Given the description of an element on the screen output the (x, y) to click on. 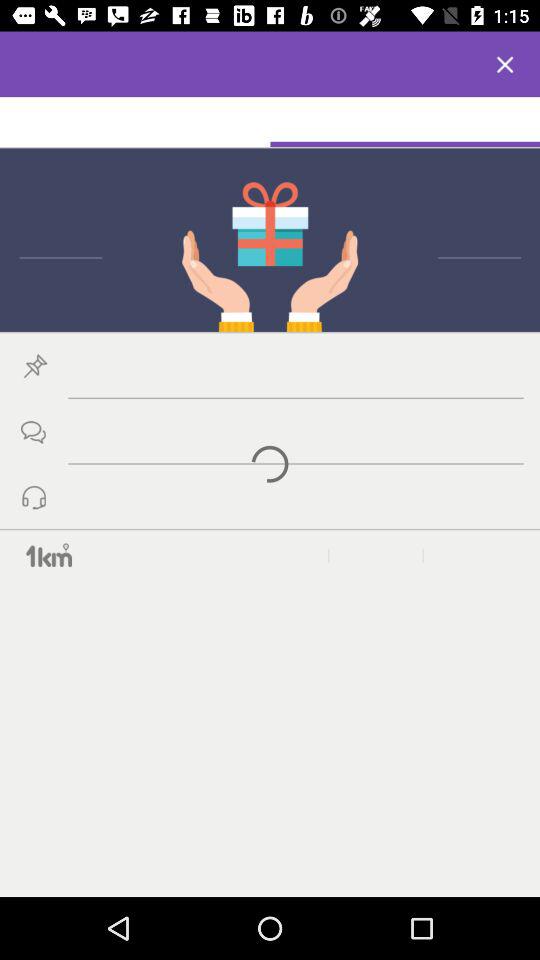
close (505, 64)
